Given the description of an element on the screen output the (x, y) to click on. 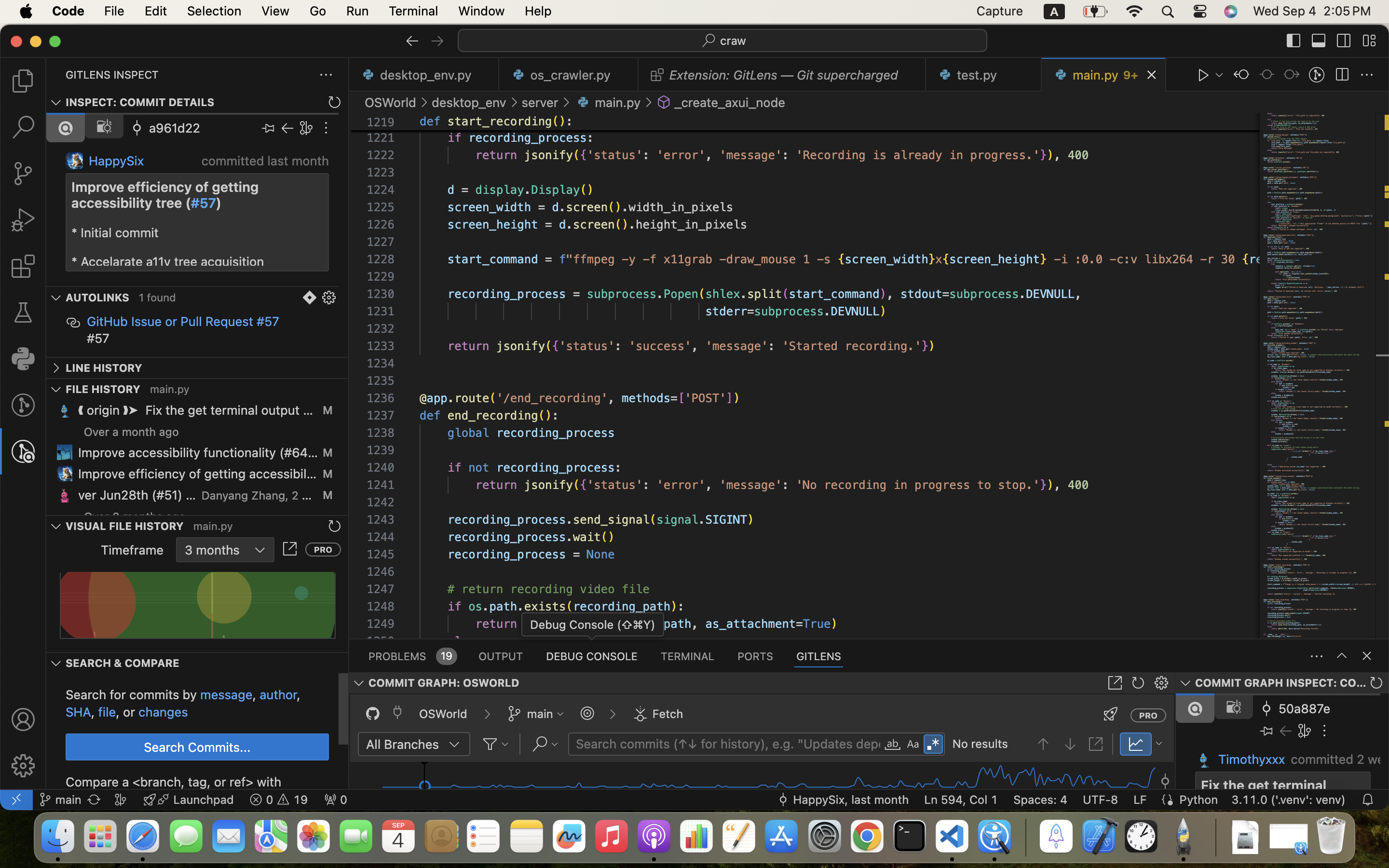
Launchpad   Element type: AXButton (188, 799)
Search for commits by Element type: AXStaticText (132, 694)
start_recording Element type: AXStaticText (499, 121)
main.py  Element type: AXGroup (607, 101)
19  0  Element type: AXButton (278, 799)
